Given the description of an element on the screen output the (x, y) to click on. 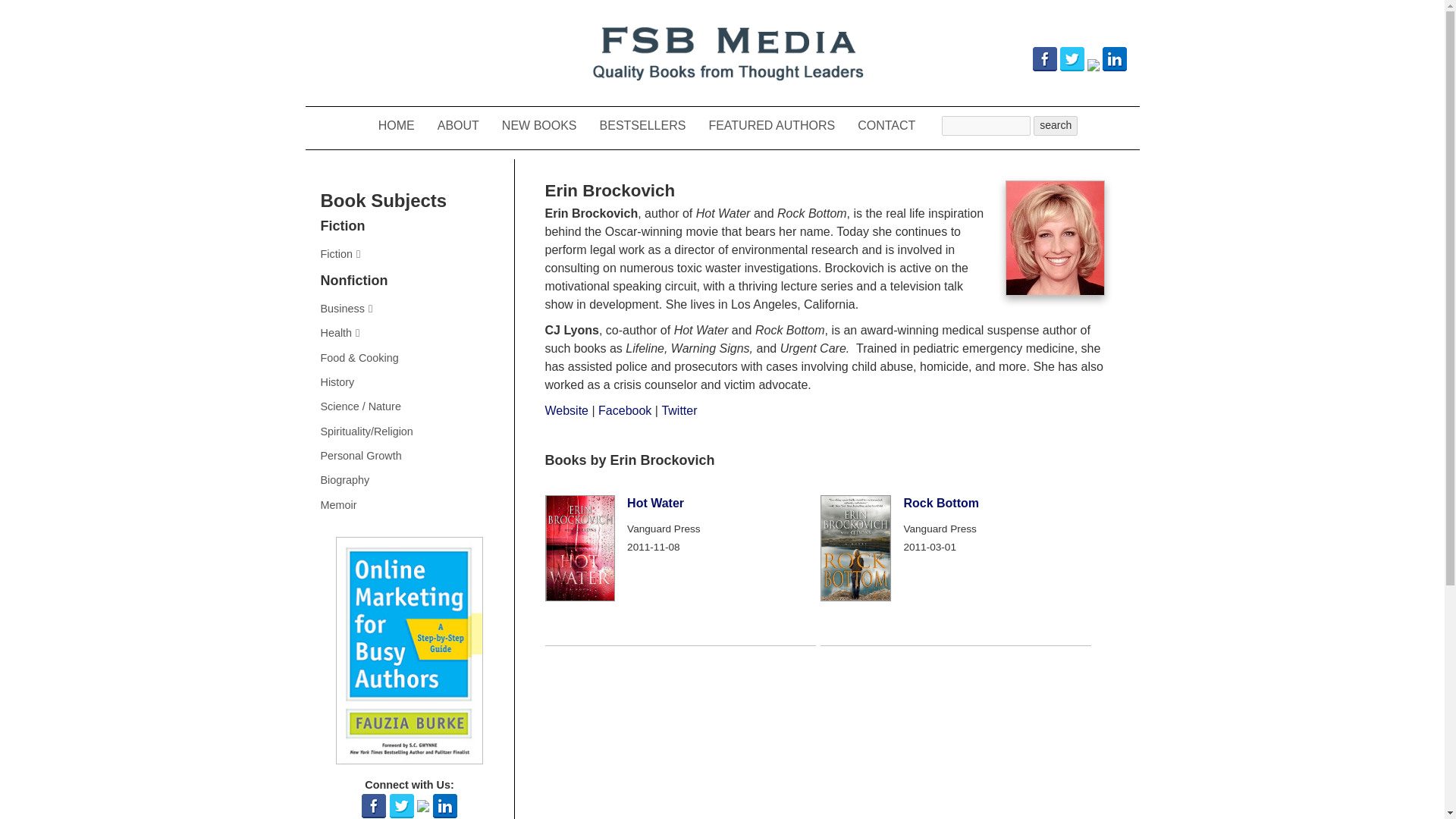
search (1055, 125)
Hot Water (655, 502)
Website (566, 410)
Twitter (679, 410)
Rock Bottom (940, 502)
Personal Growth (408, 455)
Business (408, 308)
Fiction (408, 253)
Facebook (624, 410)
search (1055, 125)
History (408, 381)
Health (408, 332)
